Given the description of an element on the screen output the (x, y) to click on. 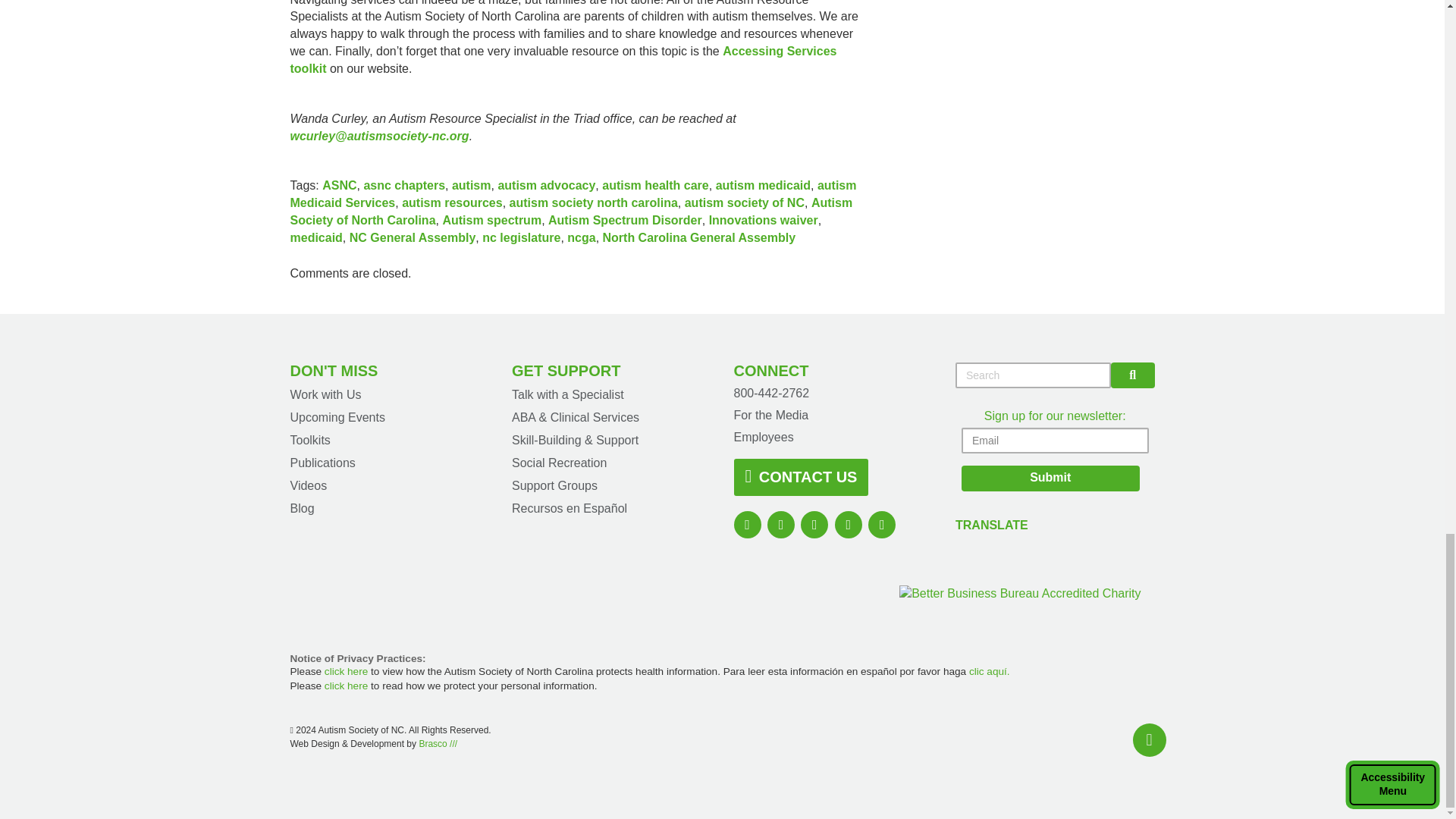
Submit (1050, 478)
